Given the description of an element on the screen output the (x, y) to click on. 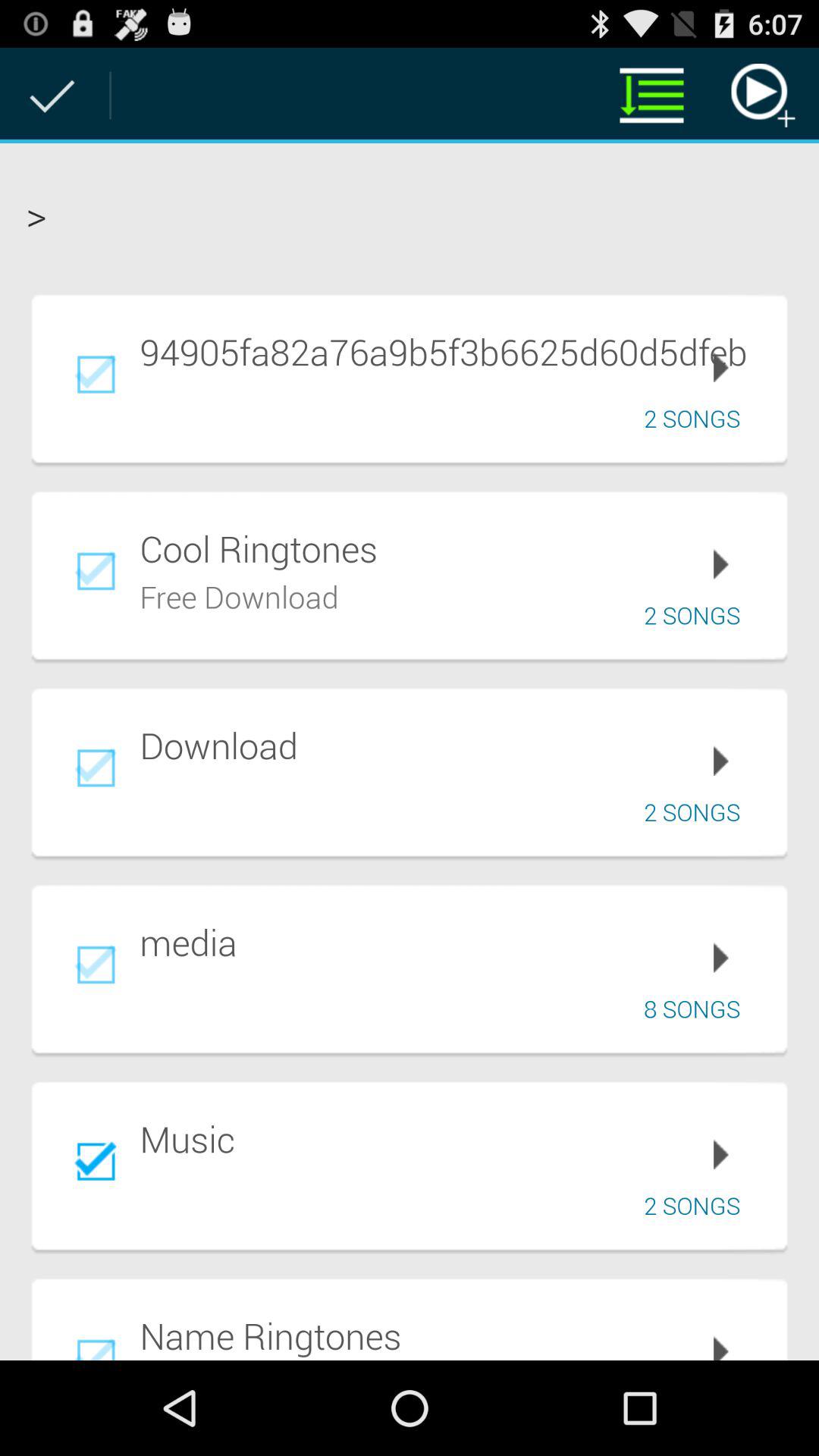
choose the free download (238, 594)
